Given the description of an element on the screen output the (x, y) to click on. 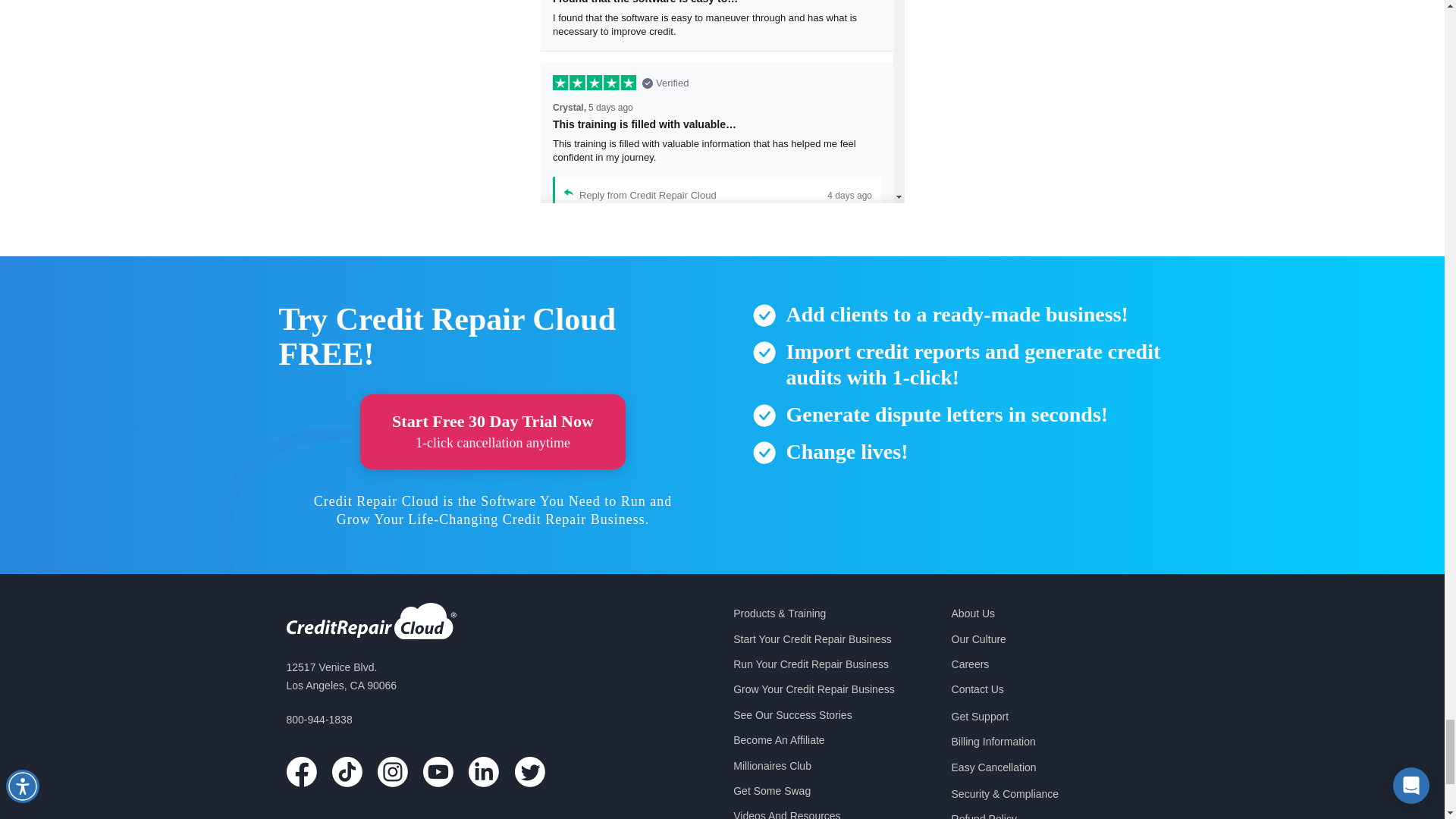
Customer reviews powered by Trustpilot (722, 101)
